Given the description of an element on the screen output the (x, y) to click on. 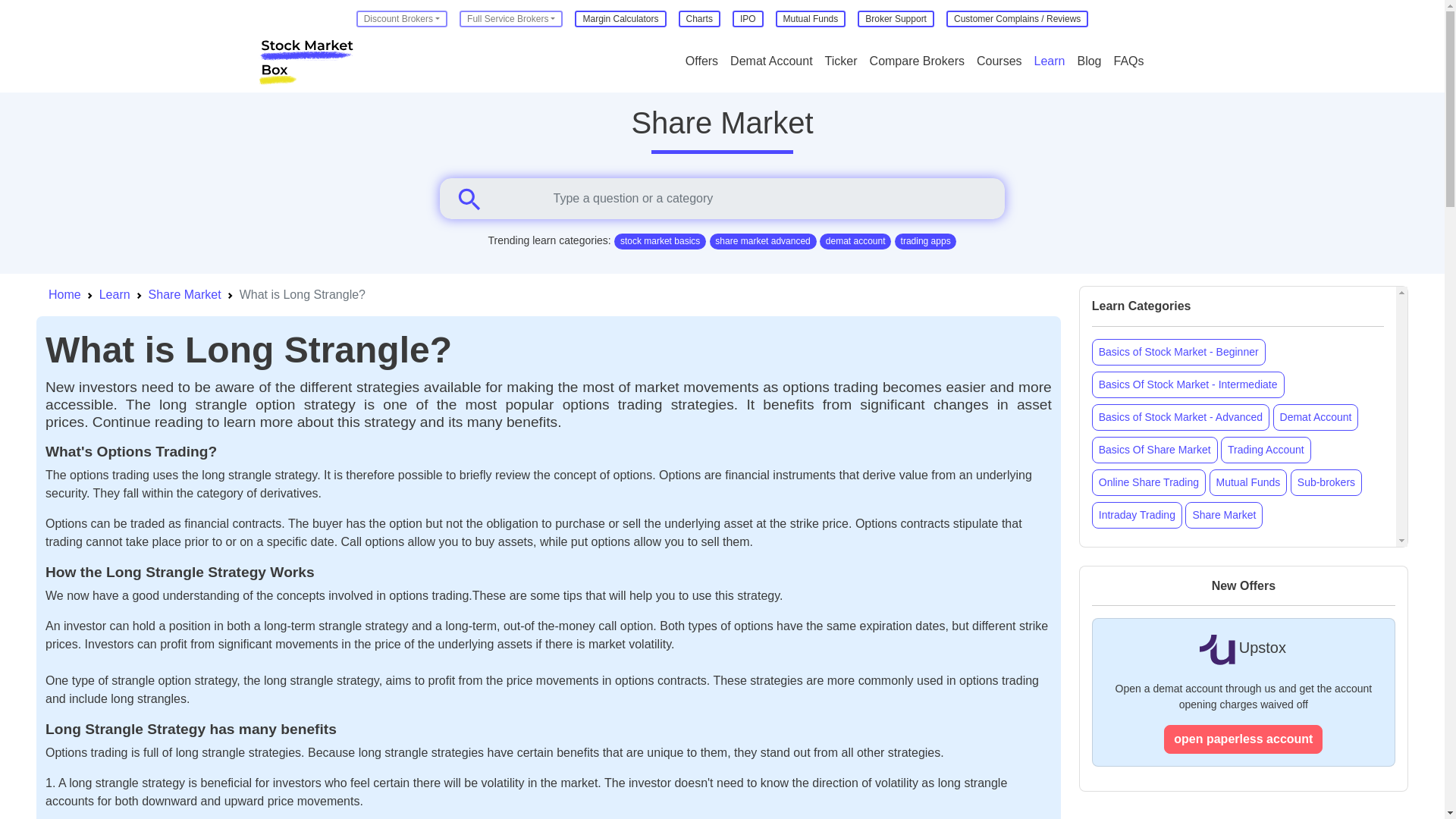
Discount Brokers (401, 18)
Full Service Brokers (511, 18)
